Given the description of an element on the screen output the (x, y) to click on. 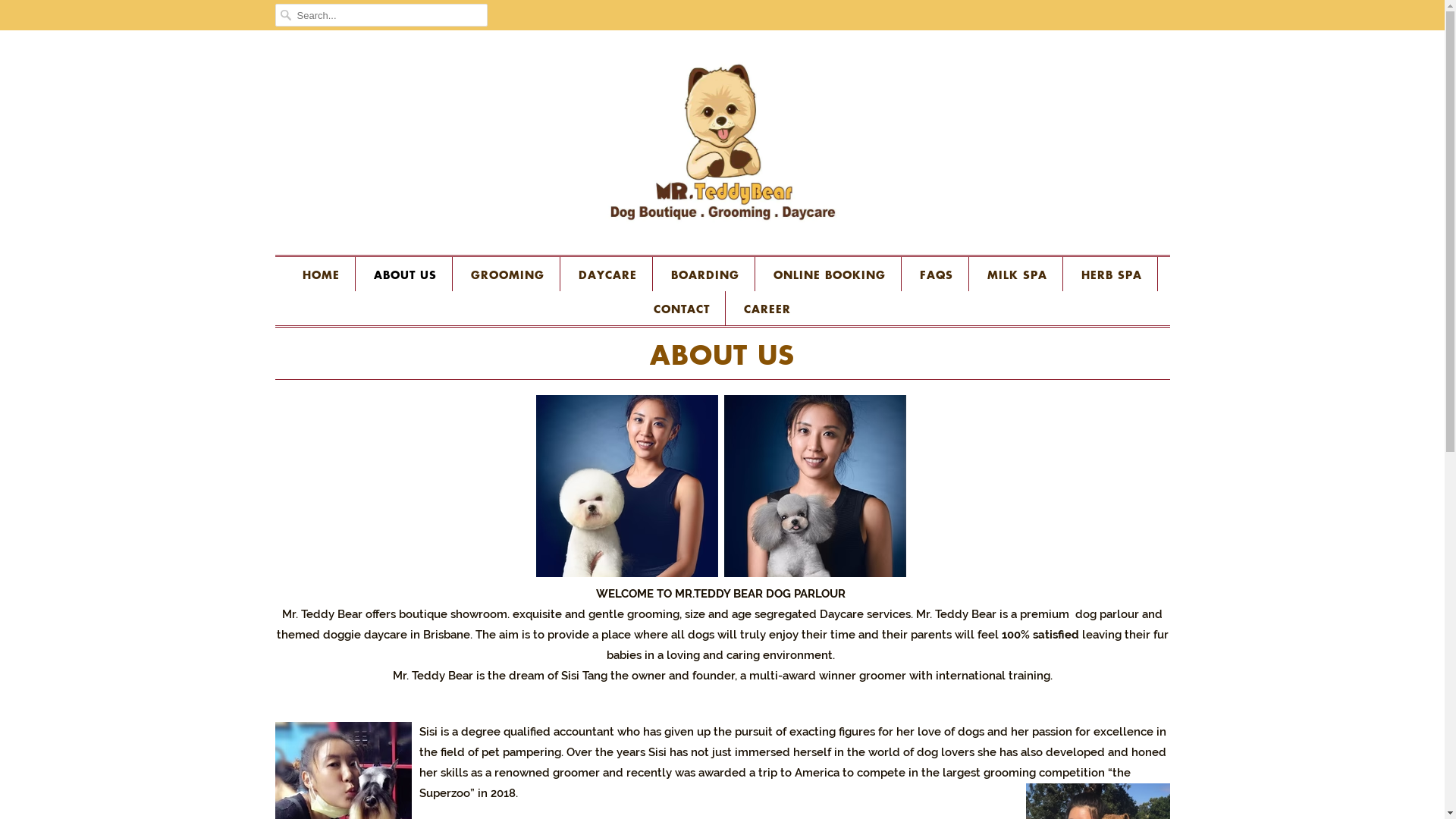
HERB SPA Element type: text (1111, 274)
DAYCARE Element type: text (606, 274)
FAQS Element type: text (935, 274)
BOARDING Element type: text (704, 274)
ONLINE BOOKING Element type: text (829, 274)
CAREER Element type: text (766, 308)
ABOUT US Element type: text (404, 274)
HOME Element type: text (319, 274)
GROOMING Element type: text (506, 274)
MILK SPA Element type: text (1017, 274)
Mr Teddy Bear Element type: hover (721, 146)
CONTACT Element type: text (681, 308)
